Given the description of an element on the screen output the (x, y) to click on. 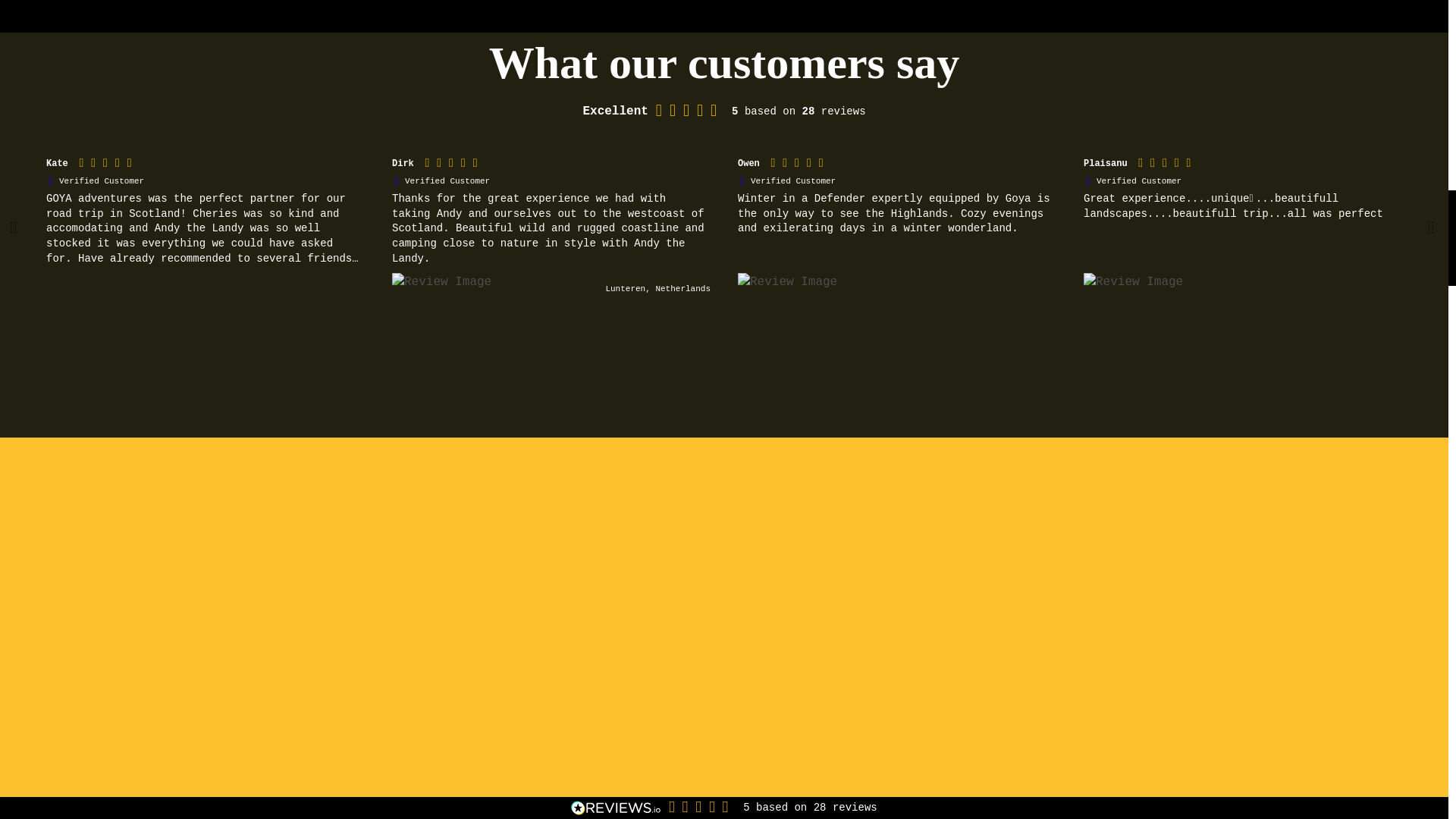
5 Stars (110, 164)
5.00 Stars (690, 112)
5 Stars (456, 164)
5 Stars (802, 164)
5 Stars (1170, 164)
